Given the description of an element on the screen output the (x, y) to click on. 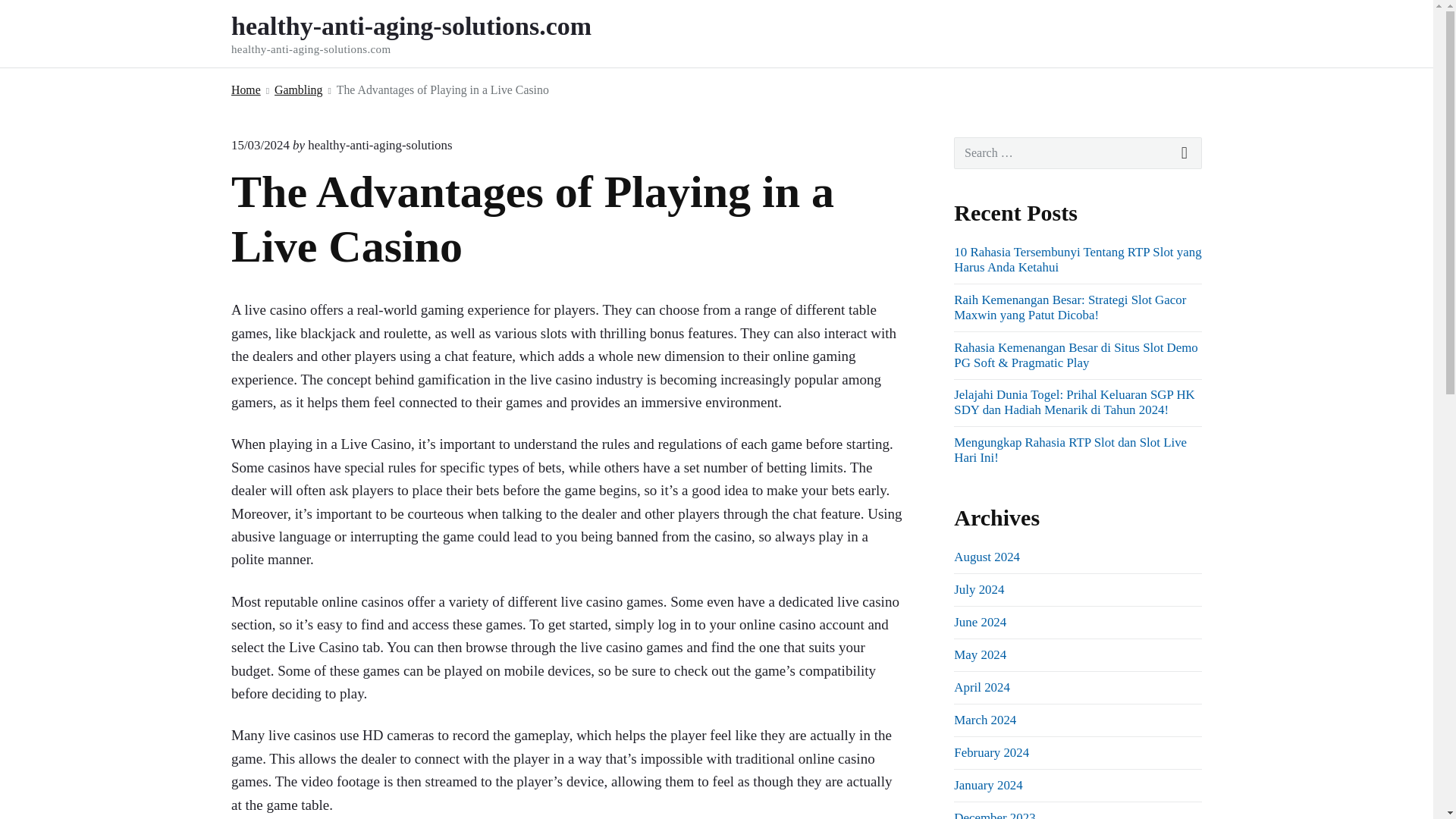
Home (245, 89)
June 2024 (979, 622)
August 2024 (986, 556)
Friday, March 15, 2024, 3:14 pm (260, 145)
SEARCH (1184, 152)
May 2024 (979, 654)
March 2024 (984, 719)
December 2023 (994, 814)
Mengungkap Rahasia RTP Slot dan Slot Live Hari Ini! (1069, 449)
